Given the description of an element on the screen output the (x, y) to click on. 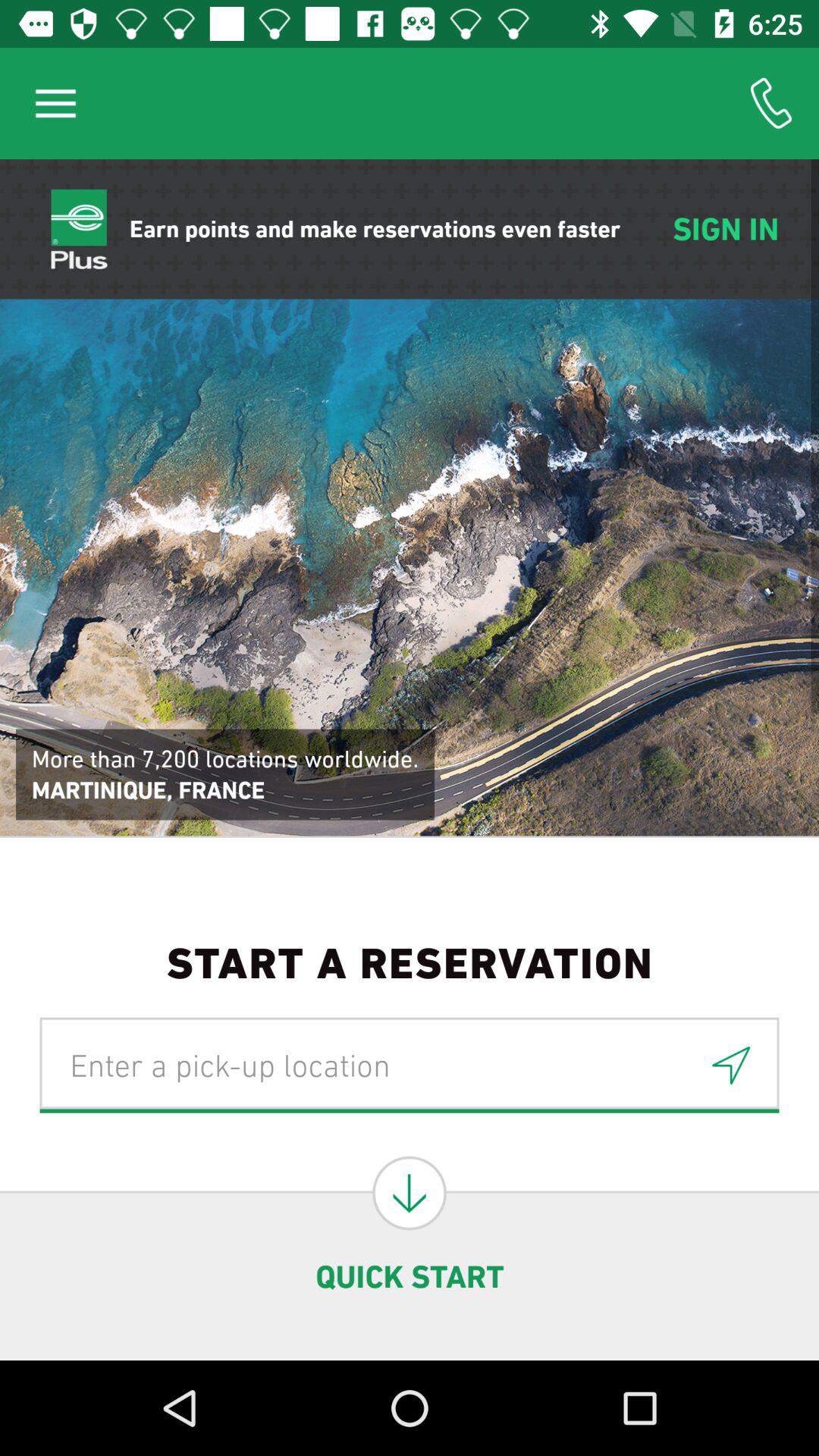
press the icon below start a reservation (409, 1065)
